Given the description of an element on the screen output the (x, y) to click on. 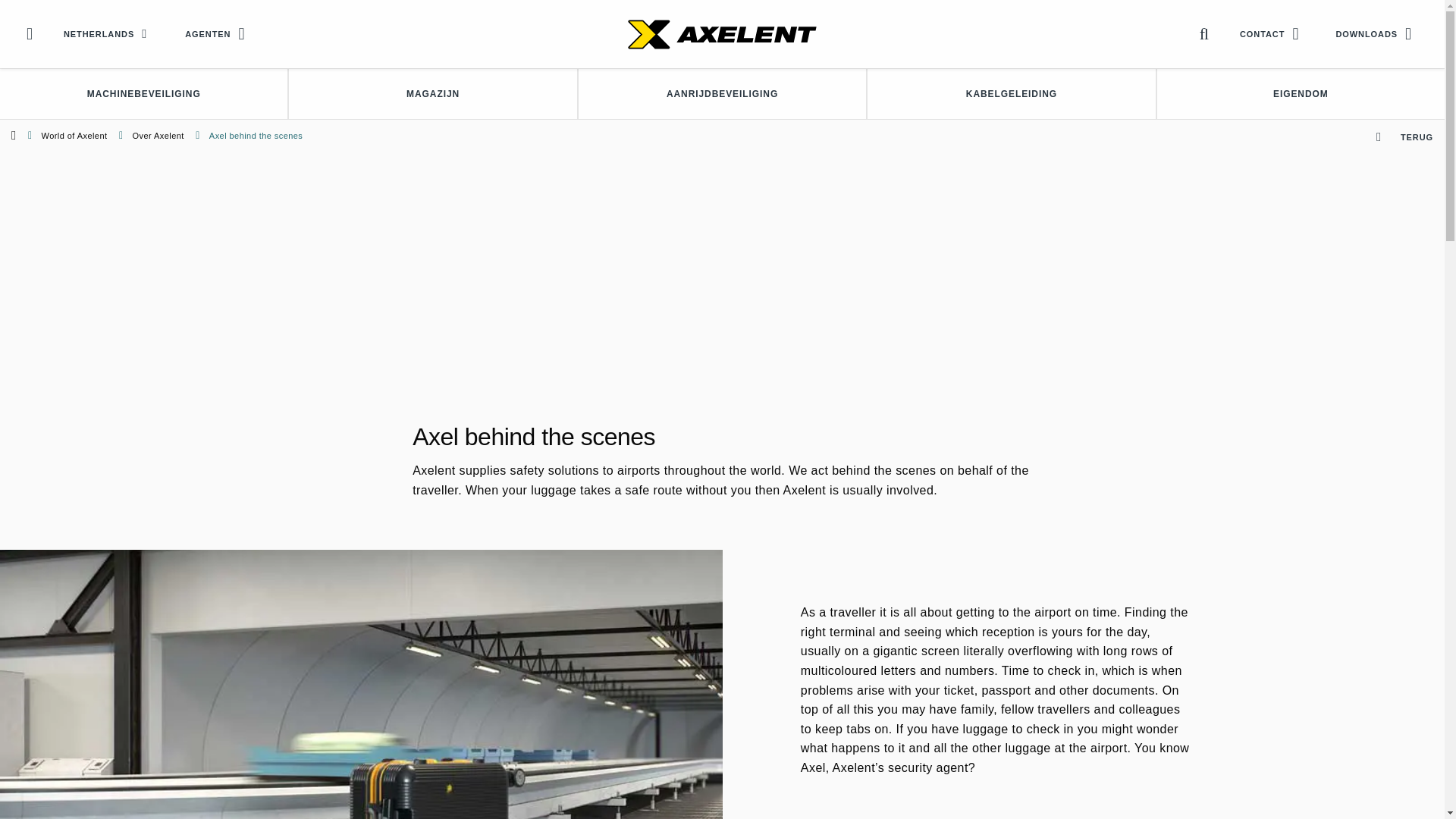
AANRIJDBEVEILIGING (722, 93)
AGENTEN (218, 33)
NETHERLANDS (109, 33)
MACHINEBEVEILIGING (143, 93)
MAGAZIJN (432, 93)
CONTACT (1272, 33)
DOWNLOADS (1376, 33)
